Given the description of an element on the screen output the (x, y) to click on. 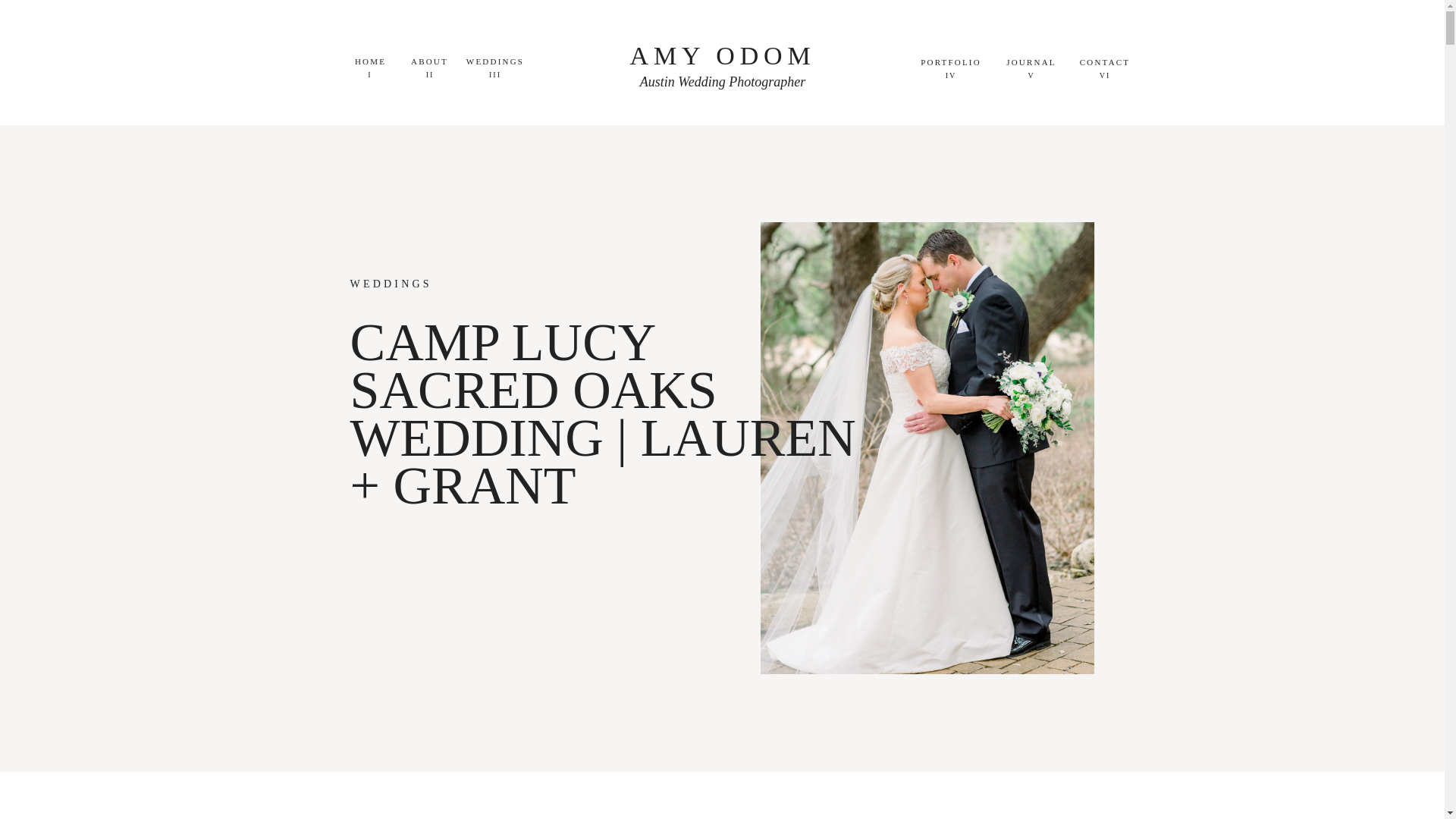
AMY ODOM (722, 57)
WEDDINGS (495, 61)
ABOUT (429, 61)
Austin Wedding Photographer (722, 83)
JOURNAL (1031, 61)
PORTFOLIO (951, 61)
CONTACT (1104, 61)
WEDDINGS (391, 283)
HOME (370, 61)
